Given the description of an element on the screen output the (x, y) to click on. 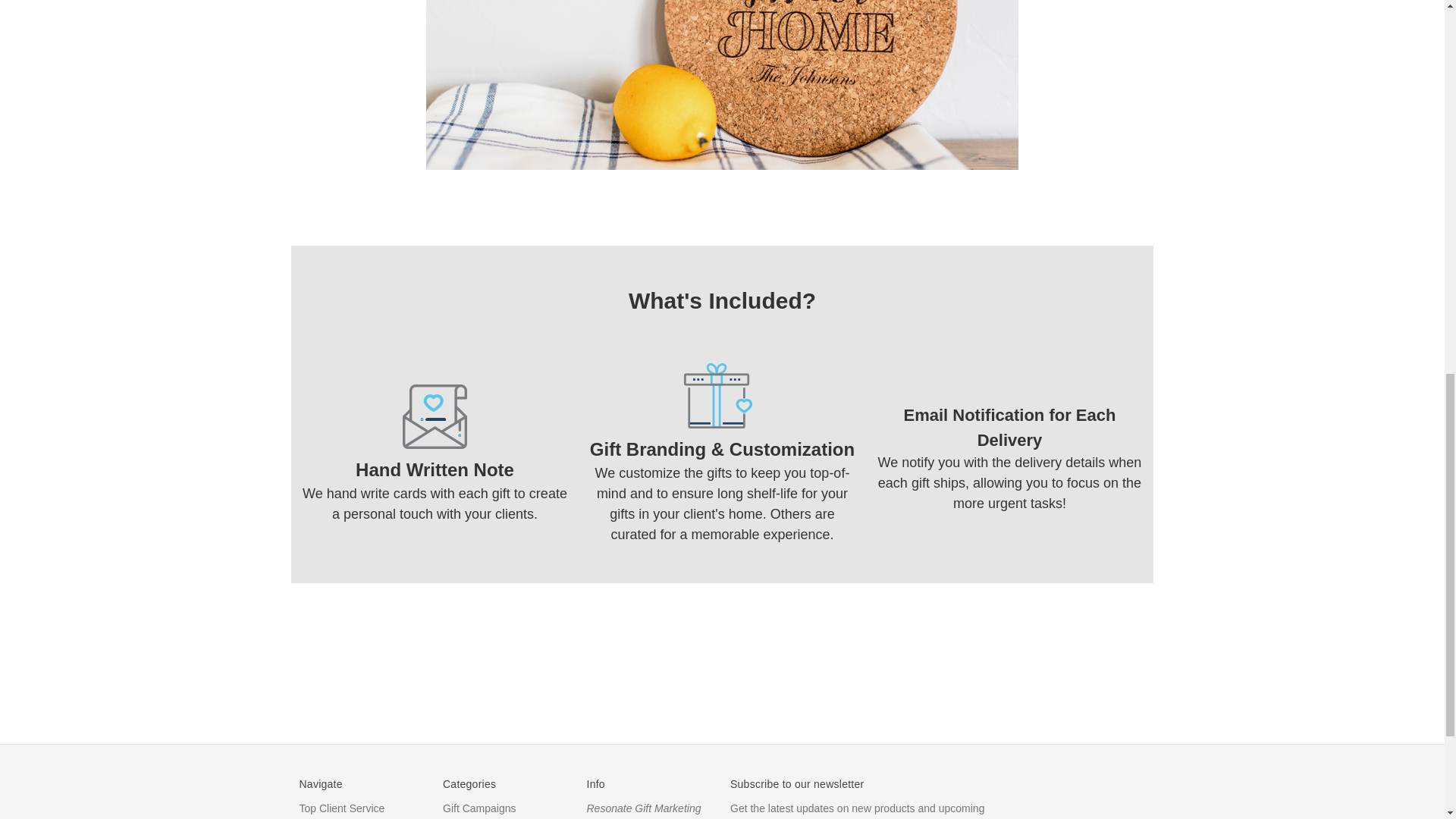
Top Client Service (341, 808)
Gift Campaigns (478, 808)
